Given the description of an element on the screen output the (x, y) to click on. 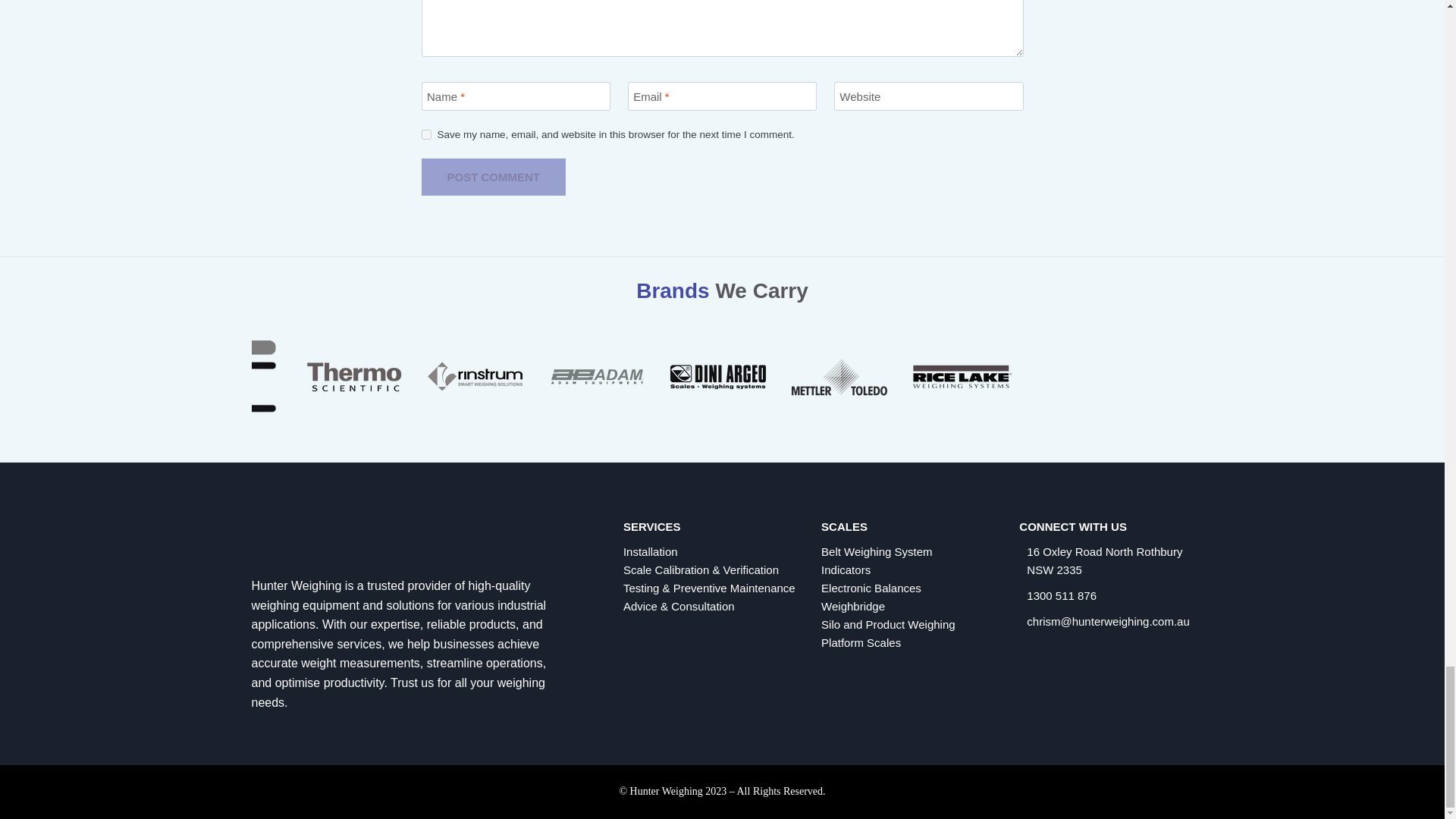
Post Comment (494, 176)
yes (426, 134)
